Given the description of an element on the screen output the (x, y) to click on. 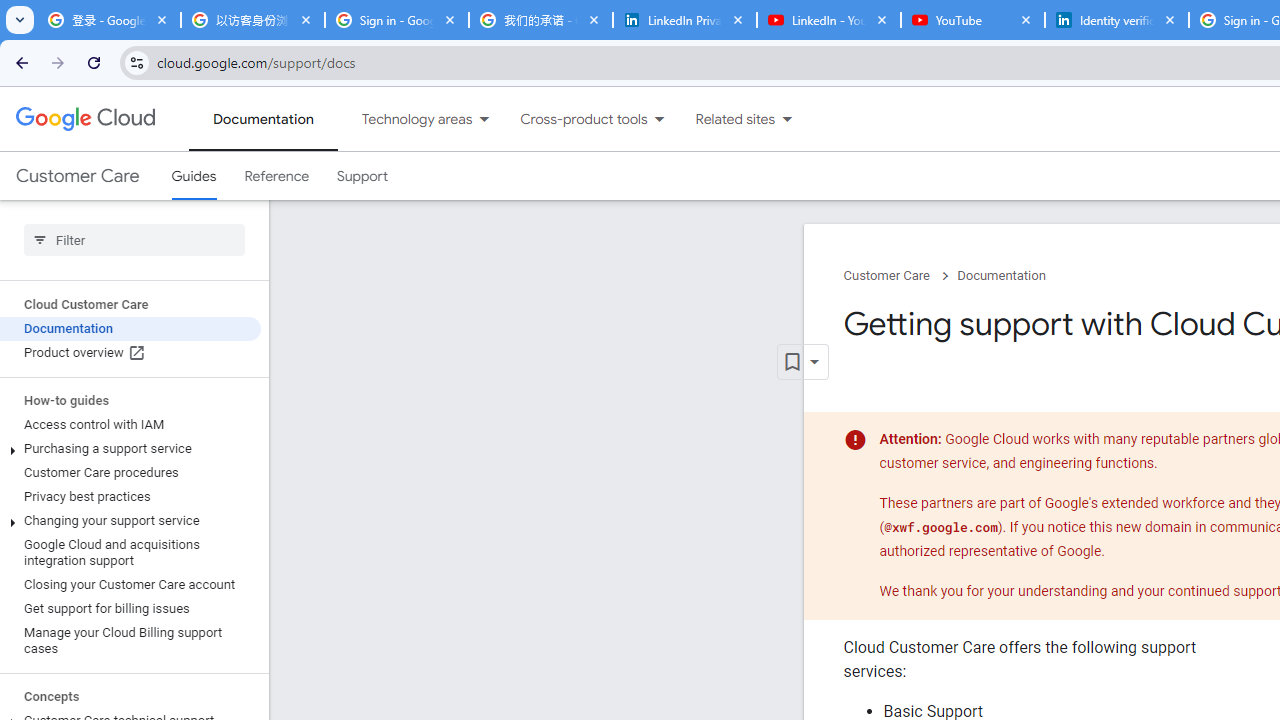
Related sites (722, 119)
Google Cloud and acquisitions integration support (130, 552)
LinkedIn - YouTube (828, 20)
Dropdown menu for Cross-product tools (659, 119)
Cross-product tools (571, 119)
Manage your Cloud Billing support cases (130, 640)
Reference (276, 175)
